Given the description of an element on the screen output the (x, y) to click on. 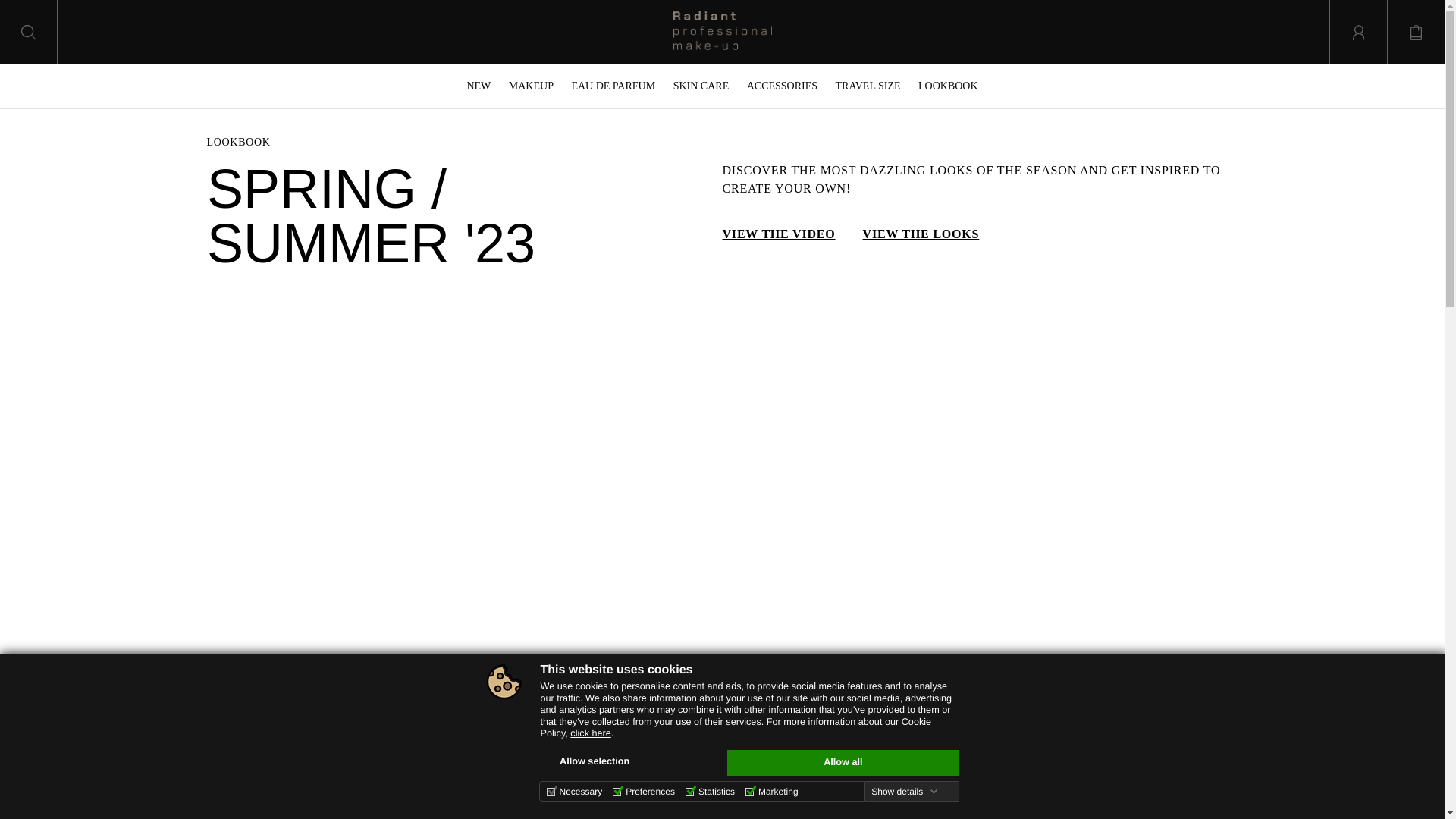
Allow selection (594, 761)
Show details (903, 791)
VIEW THE VIDEO (778, 234)
Allow all (842, 762)
VIEW THE LOOKS (921, 234)
click here (590, 733)
